Given the description of an element on the screen output the (x, y) to click on. 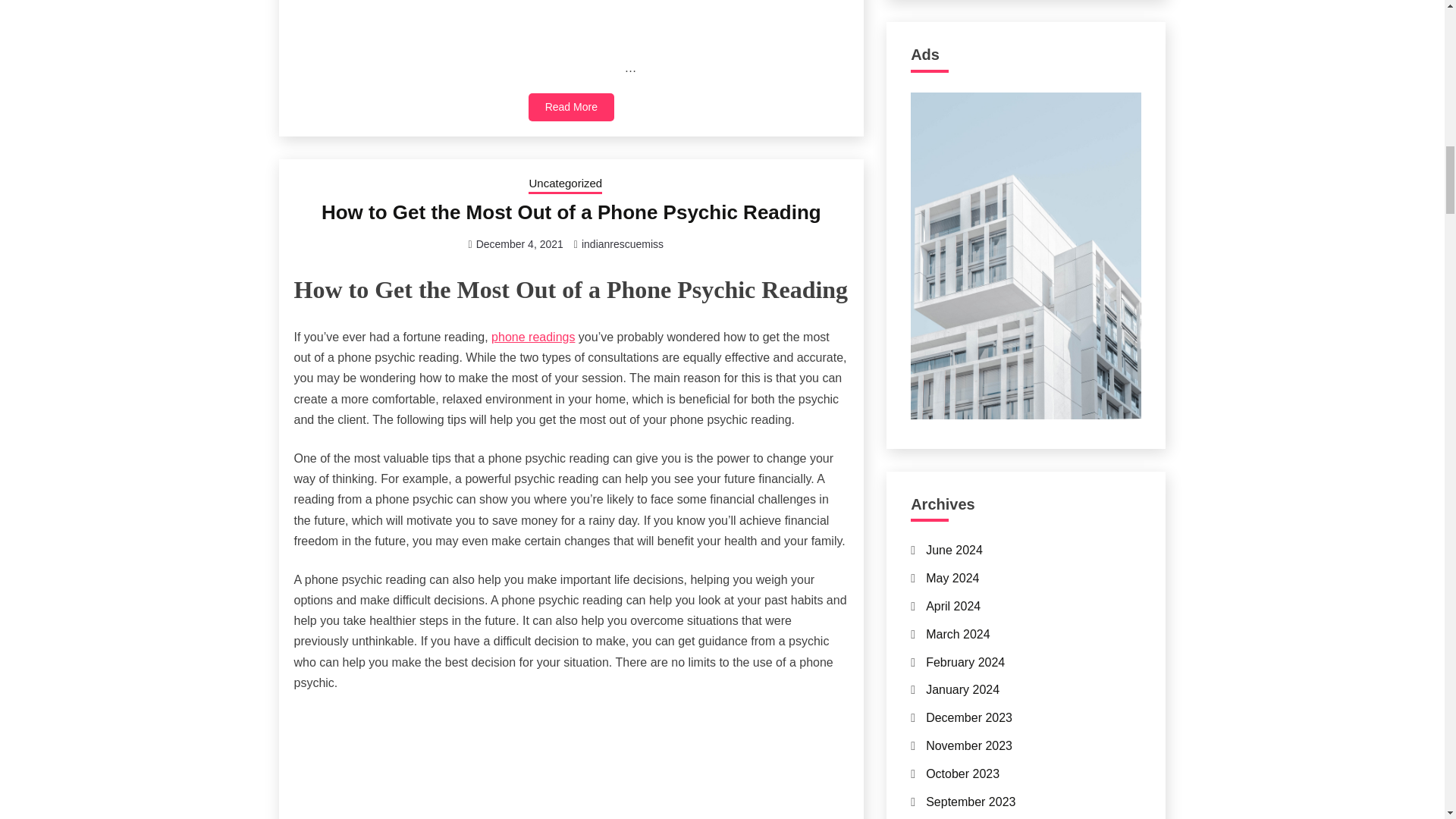
phone readings (533, 336)
December 4, 2021 (519, 244)
Read More (571, 107)
How to Get the Most Out of a Phone Psychic Reading (571, 211)
Uncategorized (565, 184)
indianrescuemiss (621, 244)
